Given the description of an element on the screen output the (x, y) to click on. 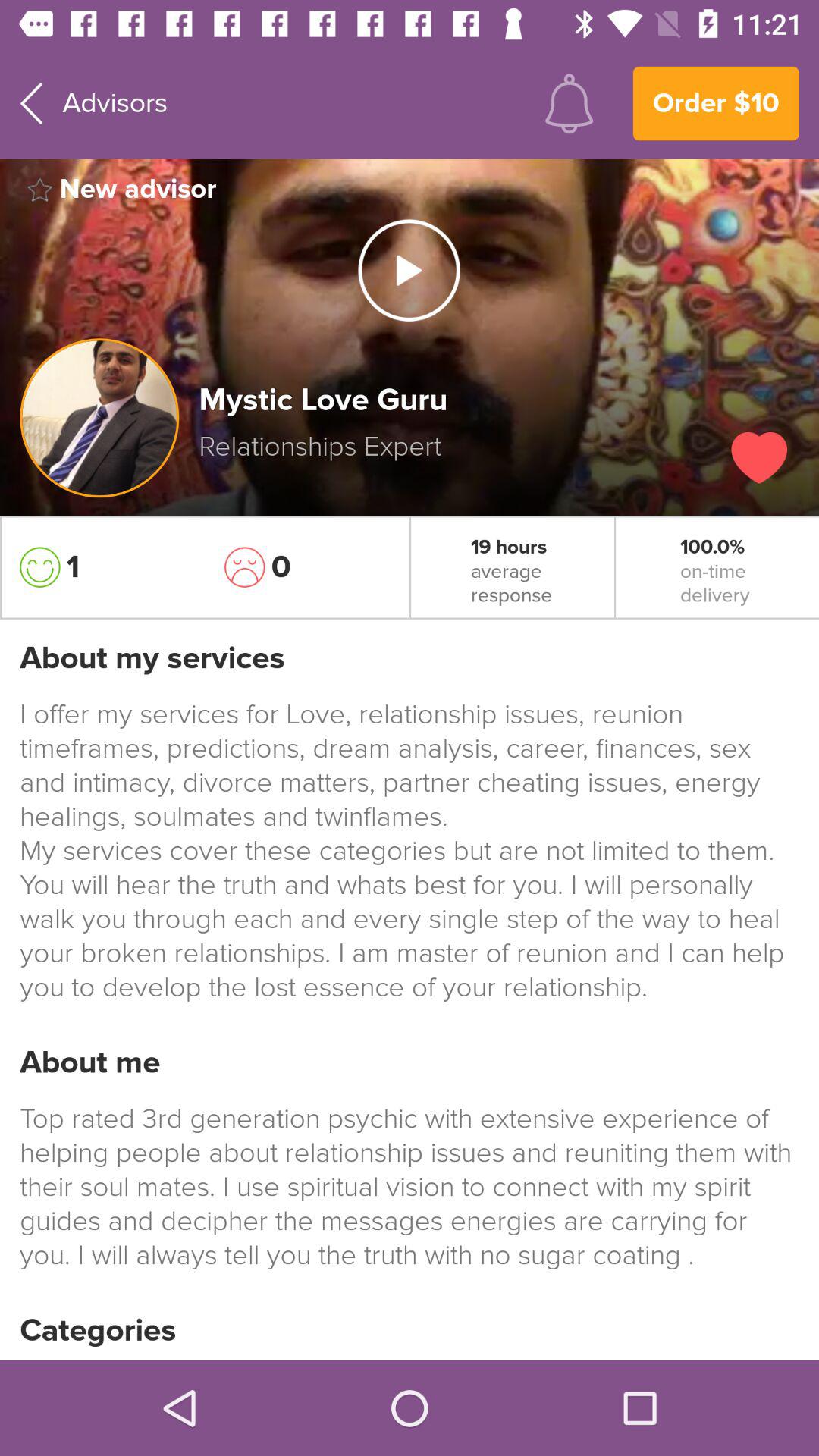
launch item to the right of advisors item (569, 103)
